Given the description of an element on the screen output the (x, y) to click on. 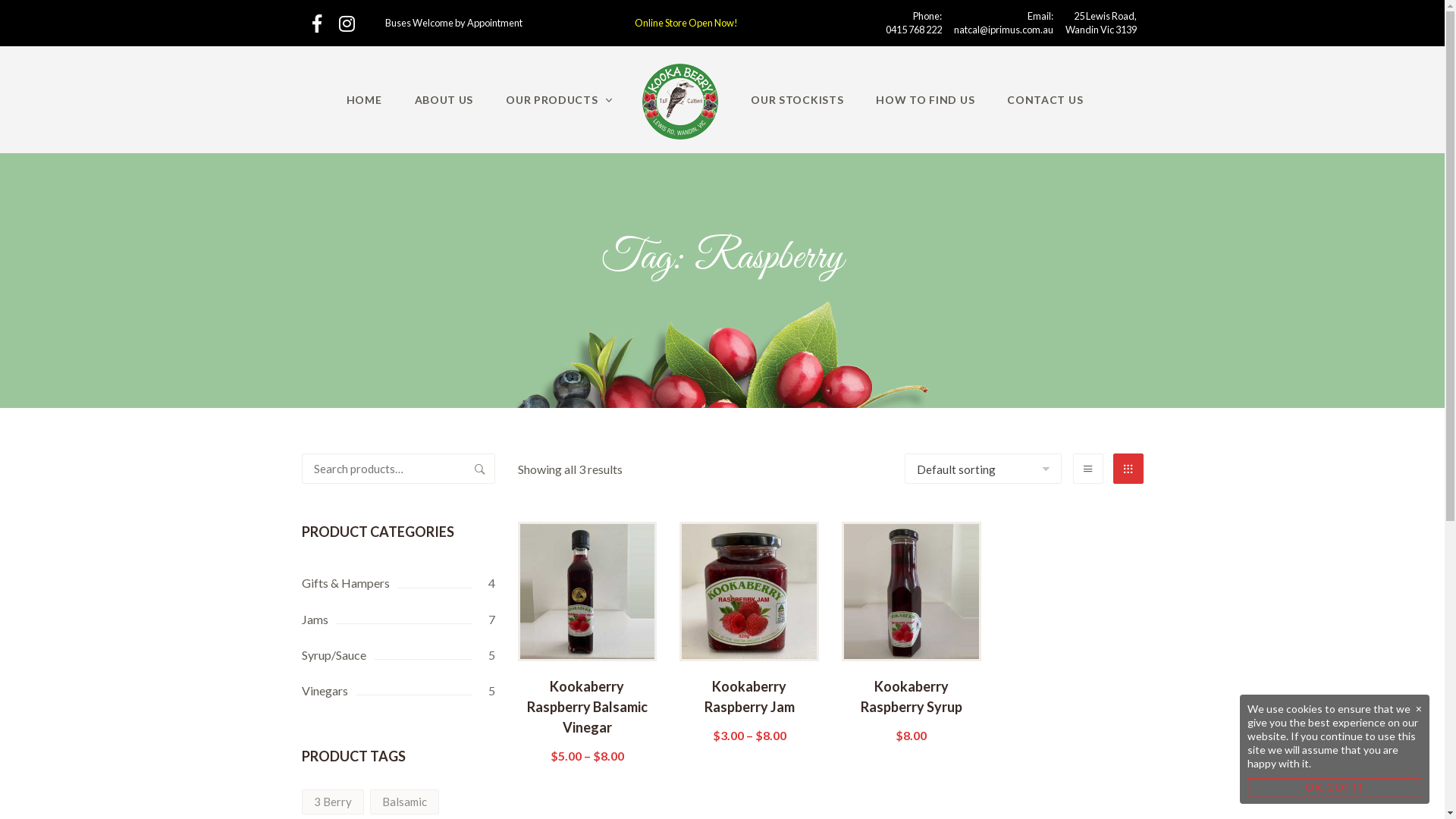
Facebook Element type: hover (316, 23)
Kookaberry Raspberry Syrup Element type: text (911, 709)
Kookaberry Strawberry Farm Element type: hover (680, 101)
0415 768 222 Element type: text (913, 29)
Gifts & Hampers Element type: text (398, 582)
Instagram Element type: hover (346, 23)
OK, GOT IT Element type: text (1334, 787)
Search Element type: text (479, 468)
natcal@iprimus.com.au Element type: text (1003, 29)
Facebook Element type: hover (316, 23)
HOME Element type: text (364, 99)
3 Berry Element type: text (332, 801)
Syrup/Sauce Element type: text (398, 654)
Balsamic Element type: text (404, 801)
HOW TO FIND US Element type: text (924, 99)
OUR PRODUCTS Element type: text (558, 99)
Kookaberry Raspberry Balsamic Vinegar Element type: text (586, 719)
OUR STOCKISTS Element type: text (796, 99)
Online Store Open Now! Element type: text (685, 22)
Jams Element type: text (398, 619)
Vinegars Element type: text (398, 690)
ABOUT US Element type: text (444, 99)
Instagram Element type: hover (346, 23)
Kookaberry Raspberry Jam Element type: text (749, 709)
CONTACT US Element type: text (1044, 99)
